Given the description of an element on the screen output the (x, y) to click on. 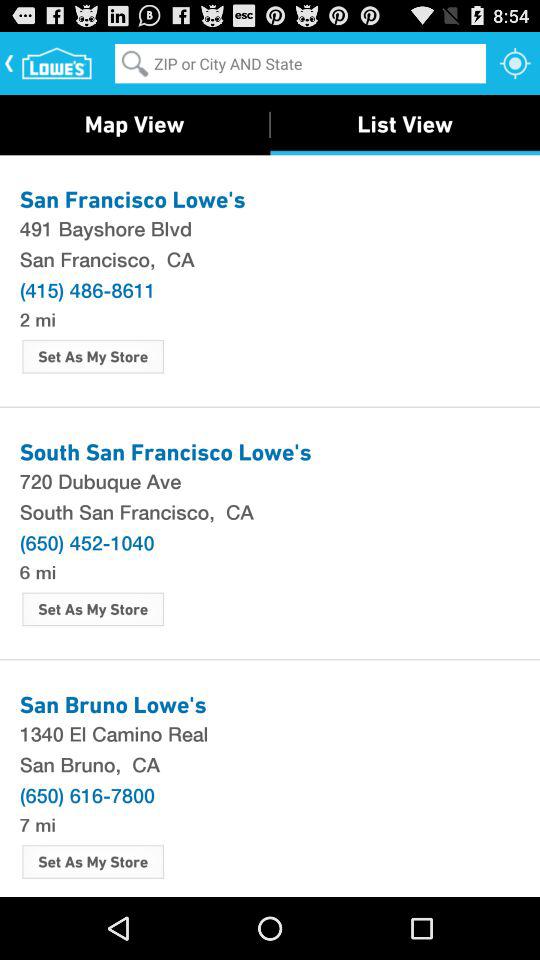
jump to (650) 452-1040 item (86, 541)
